Given the description of an element on the screen output the (x, y) to click on. 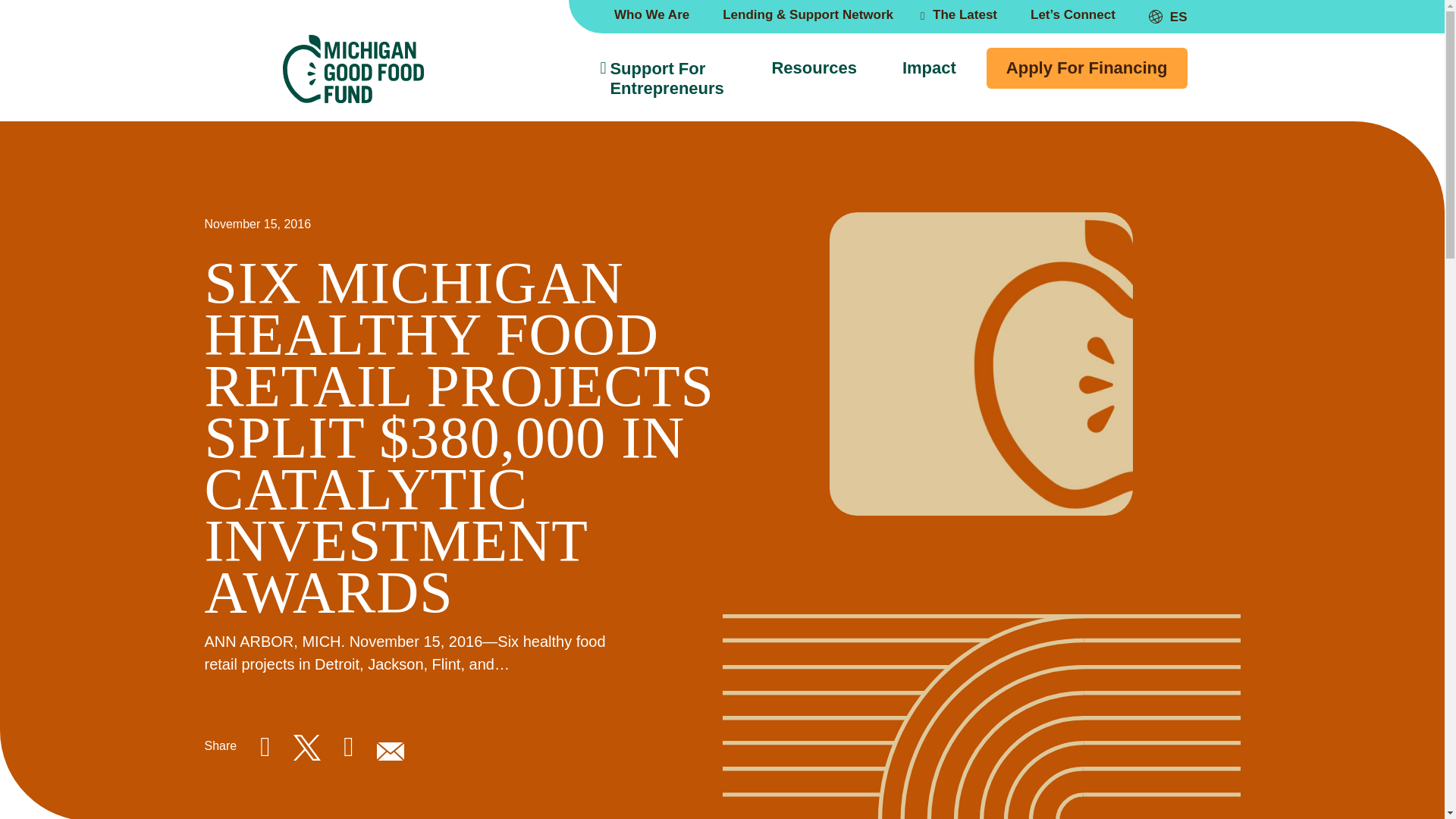
Support For Entrepreneurs (660, 78)
ES (1168, 16)
Impact (928, 68)
Resources (813, 68)
Who We Are (651, 14)
The Latest (961, 14)
Apply For Financing (1087, 67)
